Given the description of an element on the screen output the (x, y) to click on. 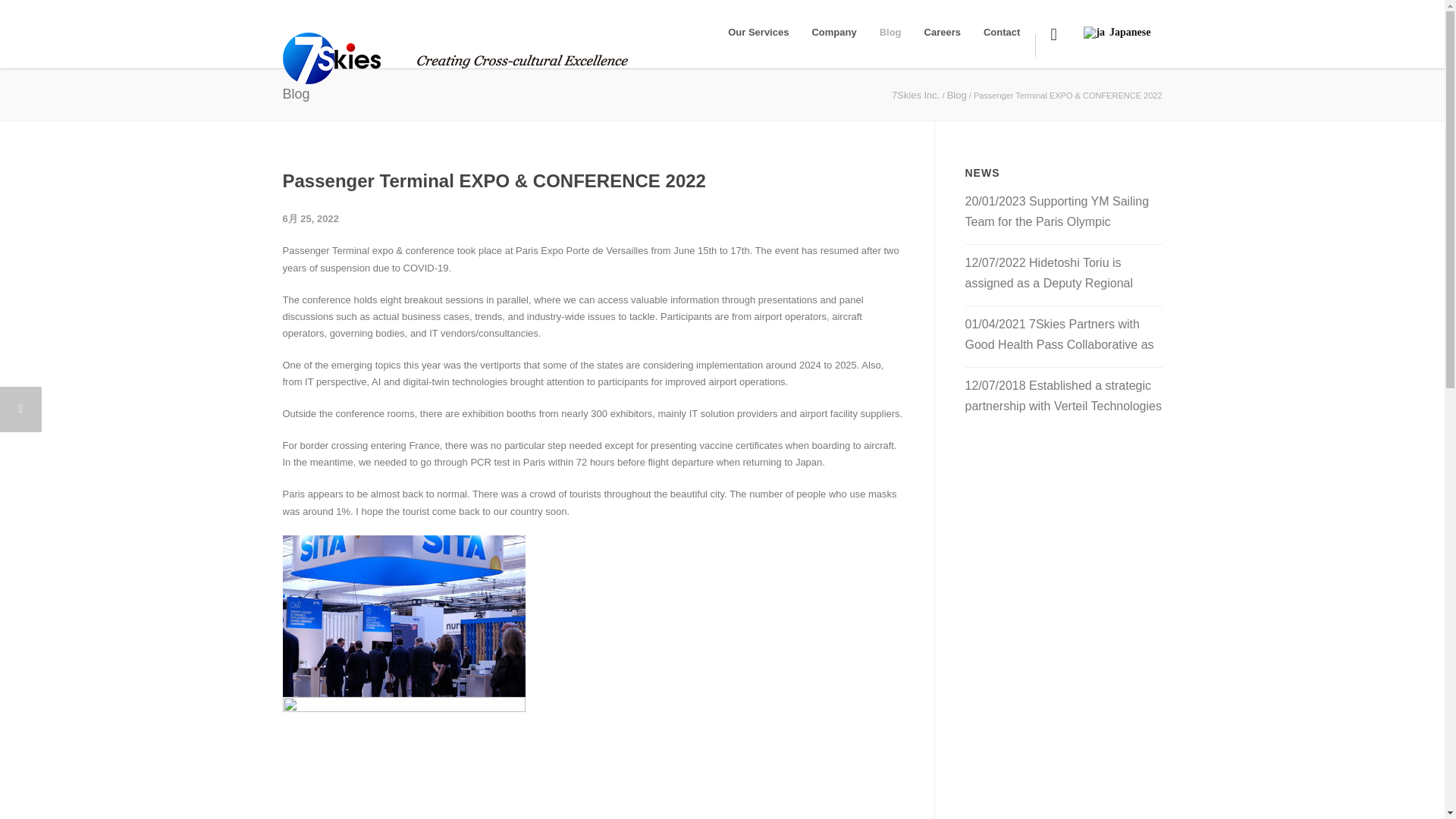
Blog (956, 94)
Japanese (1114, 19)
Company (833, 32)
Careers (942, 32)
7Skies Inc. (915, 94)
Blog (889, 32)
Contact (1001, 32)
Our Services (757, 32)
japanese (1093, 32)
